Given the description of an element on the screen output the (x, y) to click on. 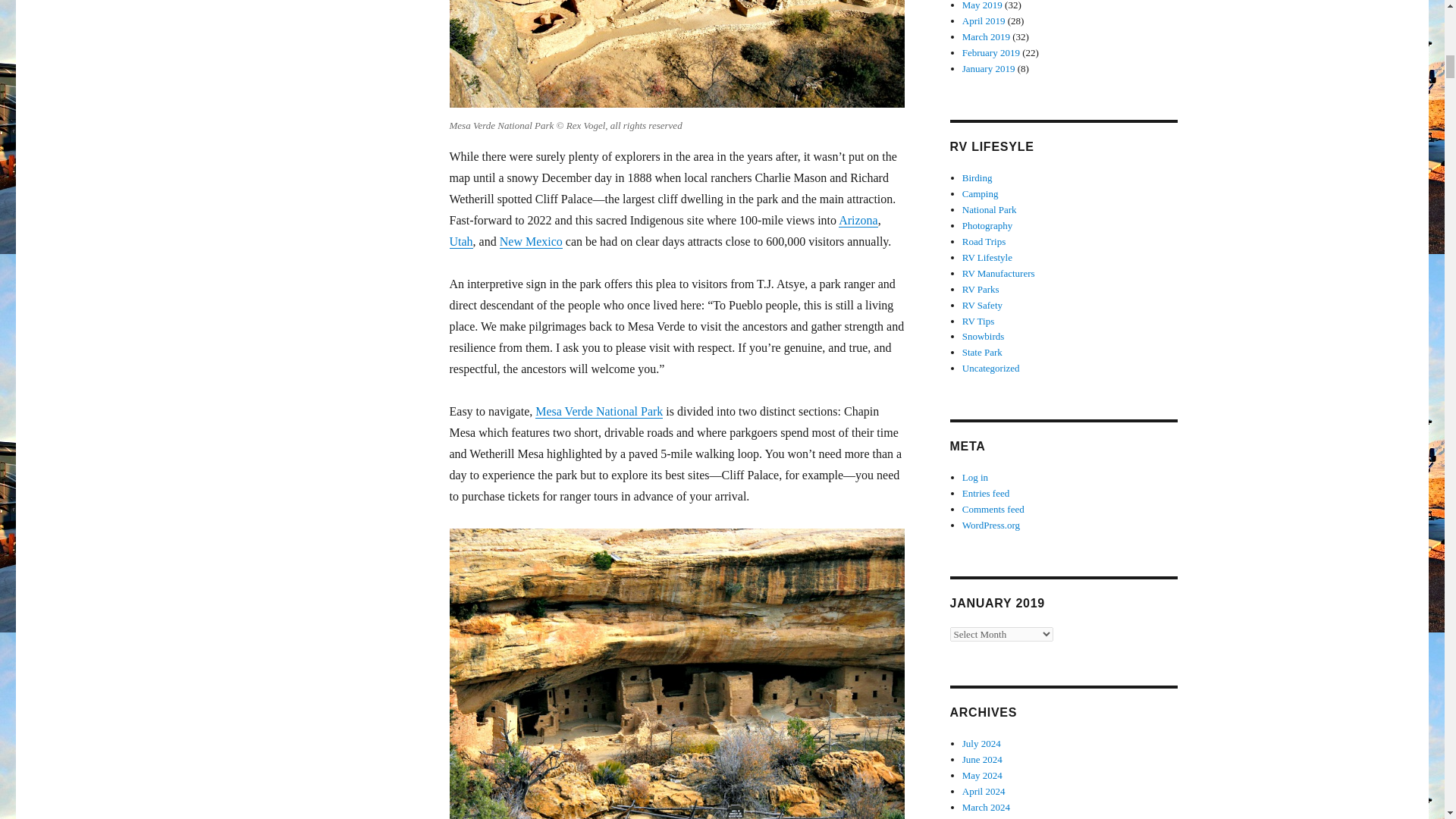
Mesa Verde National Park (598, 410)
New Mexico (530, 241)
Arizona (857, 219)
Utah (459, 241)
